Given the description of an element on the screen output the (x, y) to click on. 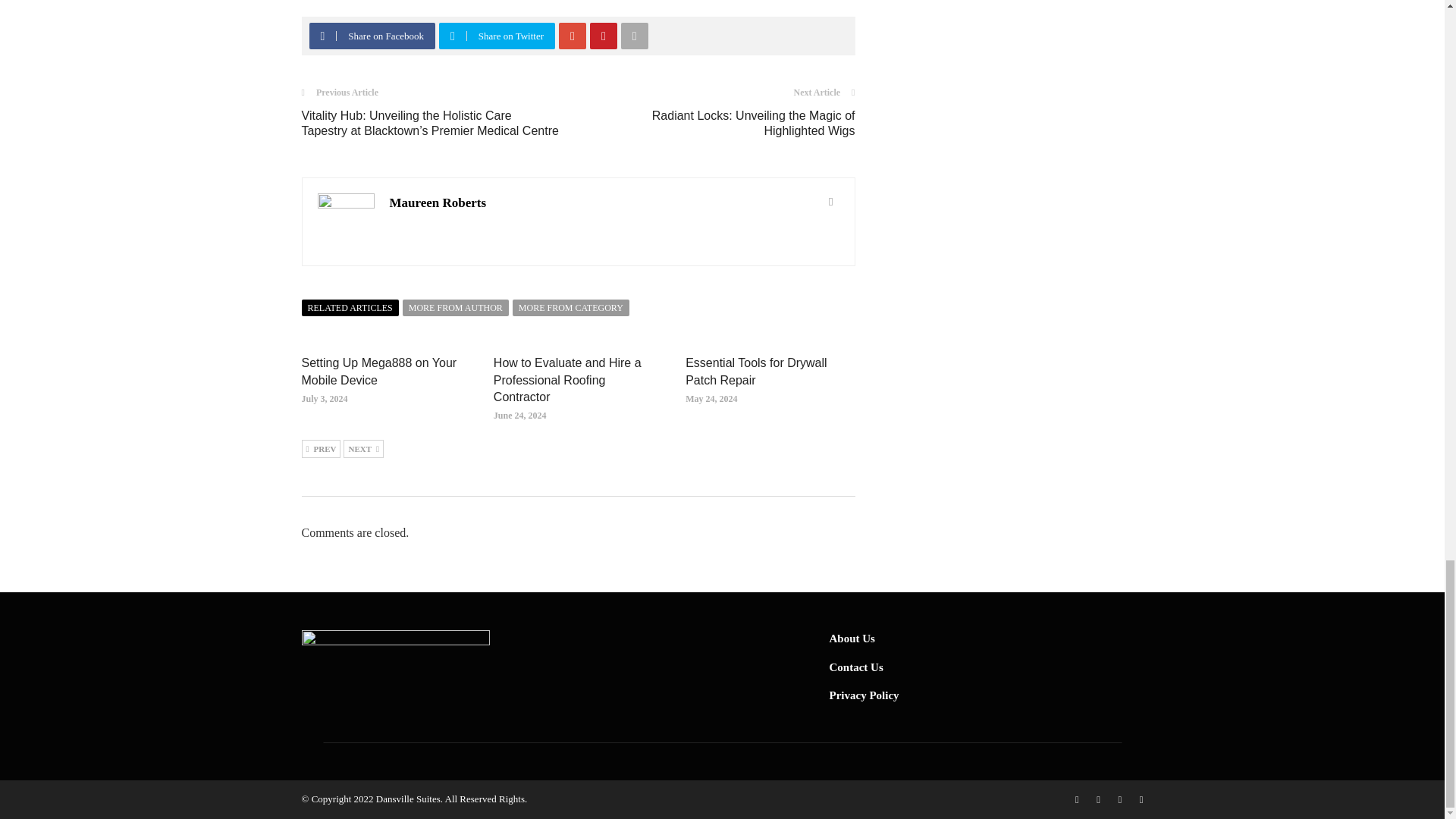
Pinterest (603, 35)
Twitter (451, 35)
Google Plus (572, 35)
Facebook (322, 35)
